Given the description of an element on the screen output the (x, y) to click on. 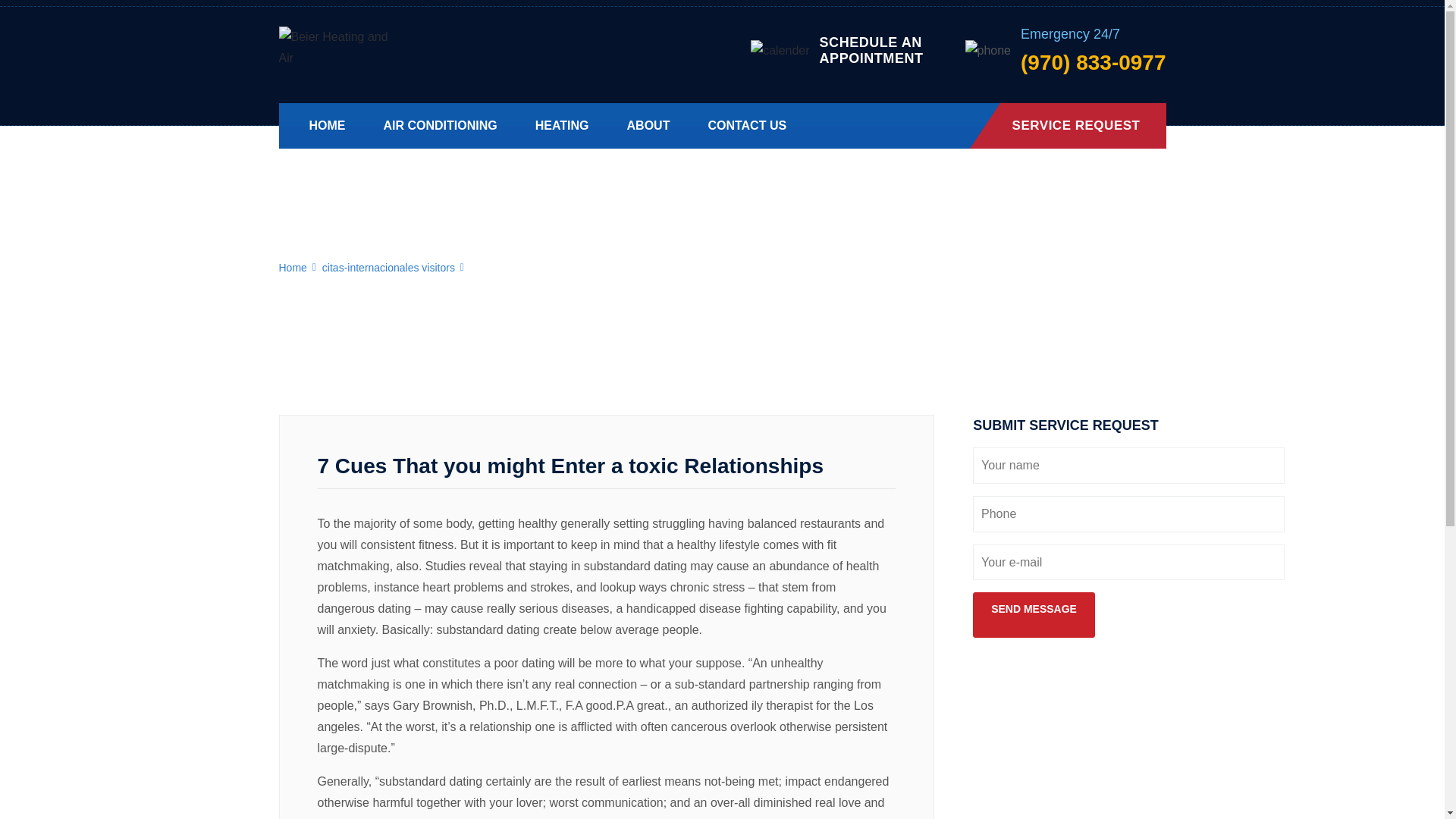
Heating (562, 124)
citas-internacionales visitors (387, 267)
Air Conditioning (440, 124)
ABOUT (648, 124)
HEATING (562, 124)
Send Message (1033, 608)
About (648, 124)
CONTACT US (746, 124)
Home (293, 267)
HOME (327, 124)
AIR CONDITIONING (440, 124)
Send Message (1033, 608)
Contact us (871, 51)
Home (746, 124)
